Given the description of an element on the screen output the (x, y) to click on. 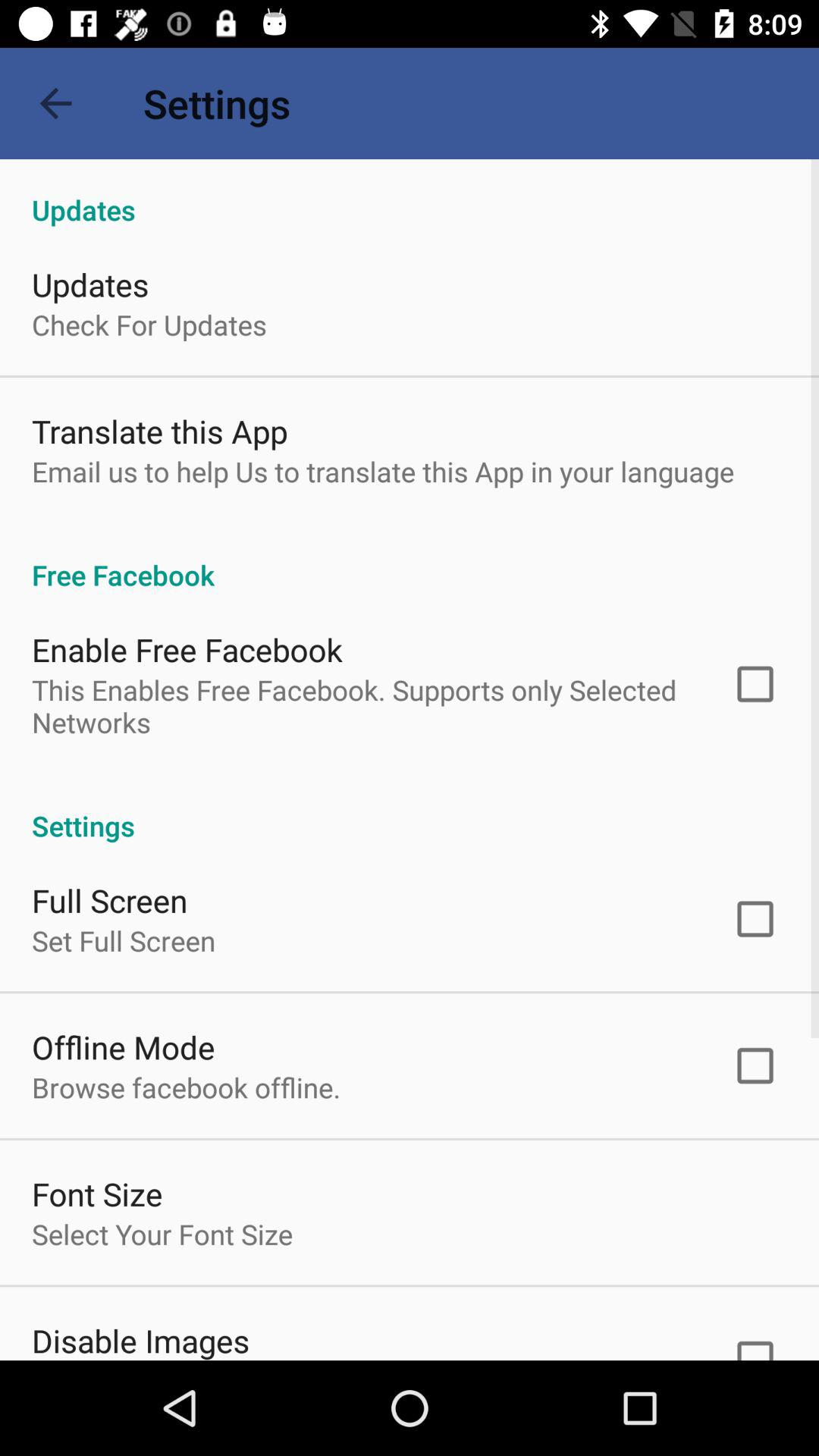
tap the browse facebook offline. icon (185, 1087)
